Given the description of an element on the screen output the (x, y) to click on. 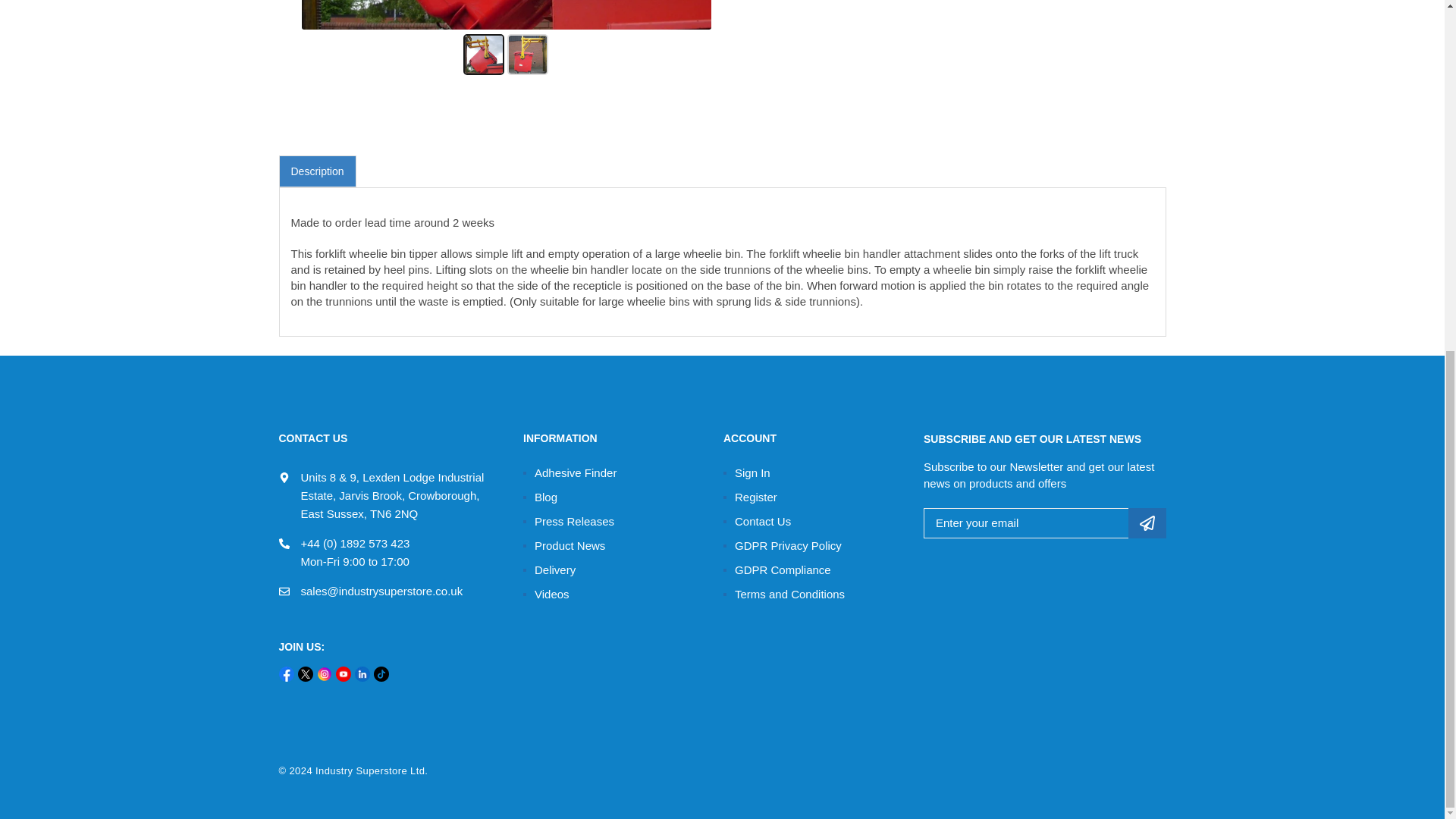
Facebook (286, 676)
Youtube (342, 676)
Instagram (324, 676)
Twitter (305, 676)
LinkedIn (362, 676)
